Given the description of an element on the screen output the (x, y) to click on. 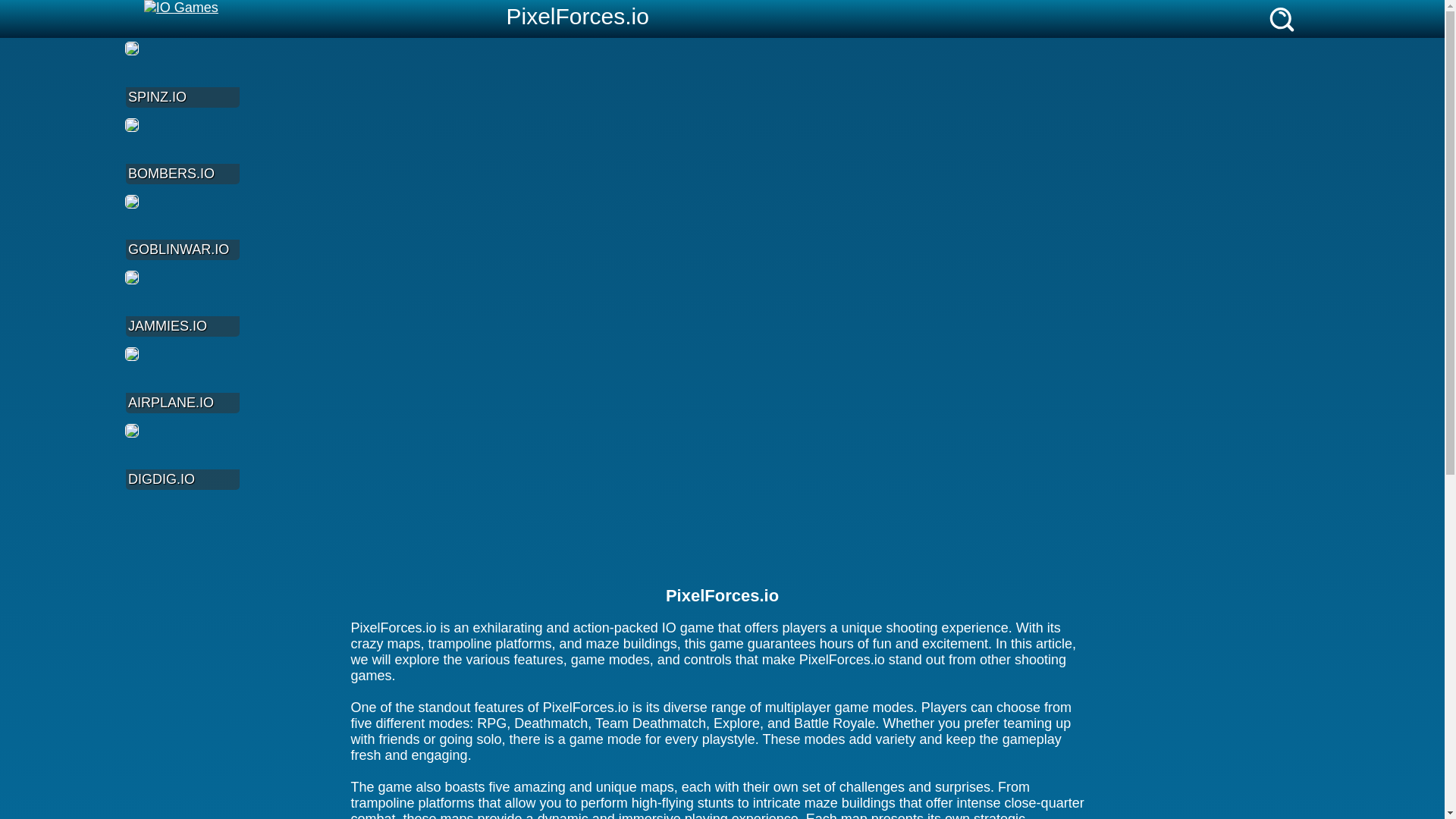
SPINZ.IO (181, 74)
BOMBERS.IO (181, 150)
GOBLINWAR.IO (181, 227)
AIRPLANE.IO (181, 379)
DIGDIG.IO (181, 456)
JAMMIES.IO (181, 303)
